Given the description of an element on the screen output the (x, y) to click on. 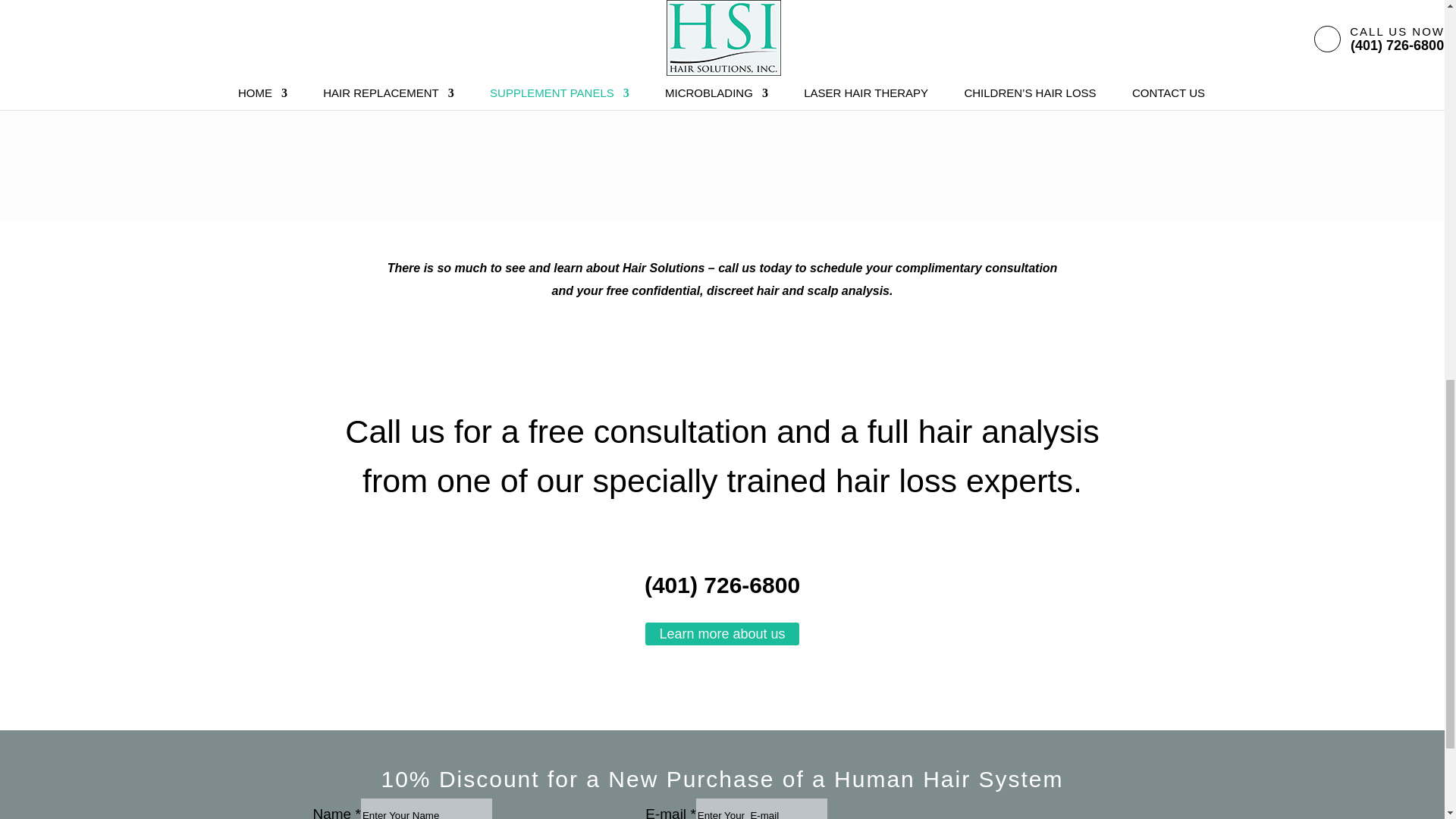
Learn more about us (721, 634)
